Given the description of an element on the screen output the (x, y) to click on. 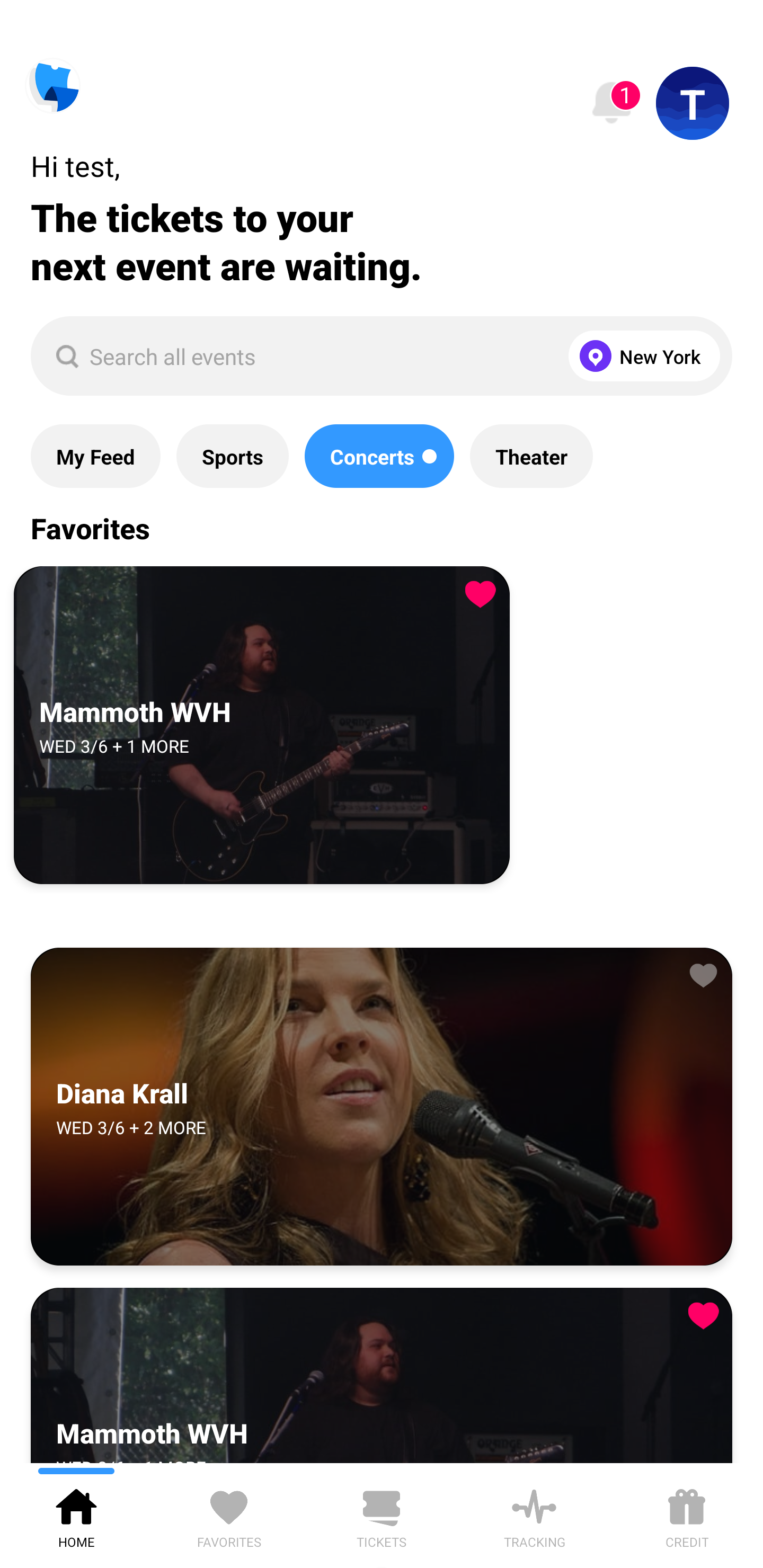
T (692, 103)
1 (611, 103)
New York (640, 355)
My Feed (95, 455)
Sports (232, 455)
Concerts (378, 455)
Theater (531, 455)
HOME (76, 1515)
FAVORITES (228, 1515)
TICKETS (381, 1515)
TRACKING (533, 1515)
CREDIT (686, 1515)
